Given the description of an element on the screen output the (x, y) to click on. 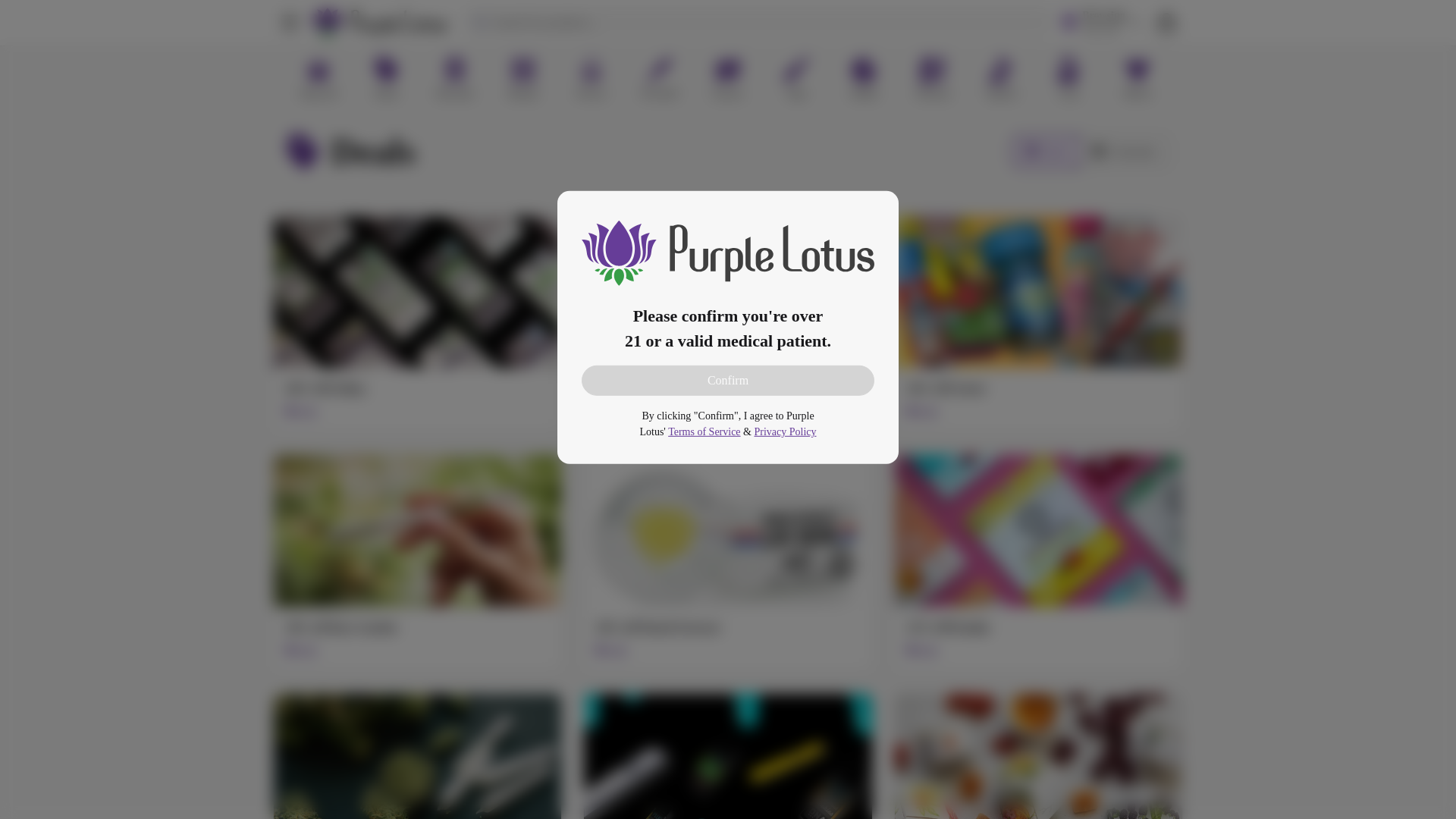
Confirm (727, 380)
Terms of Service (703, 431)
Privacy Policy (784, 431)
